Given the description of an element on the screen output the (x, y) to click on. 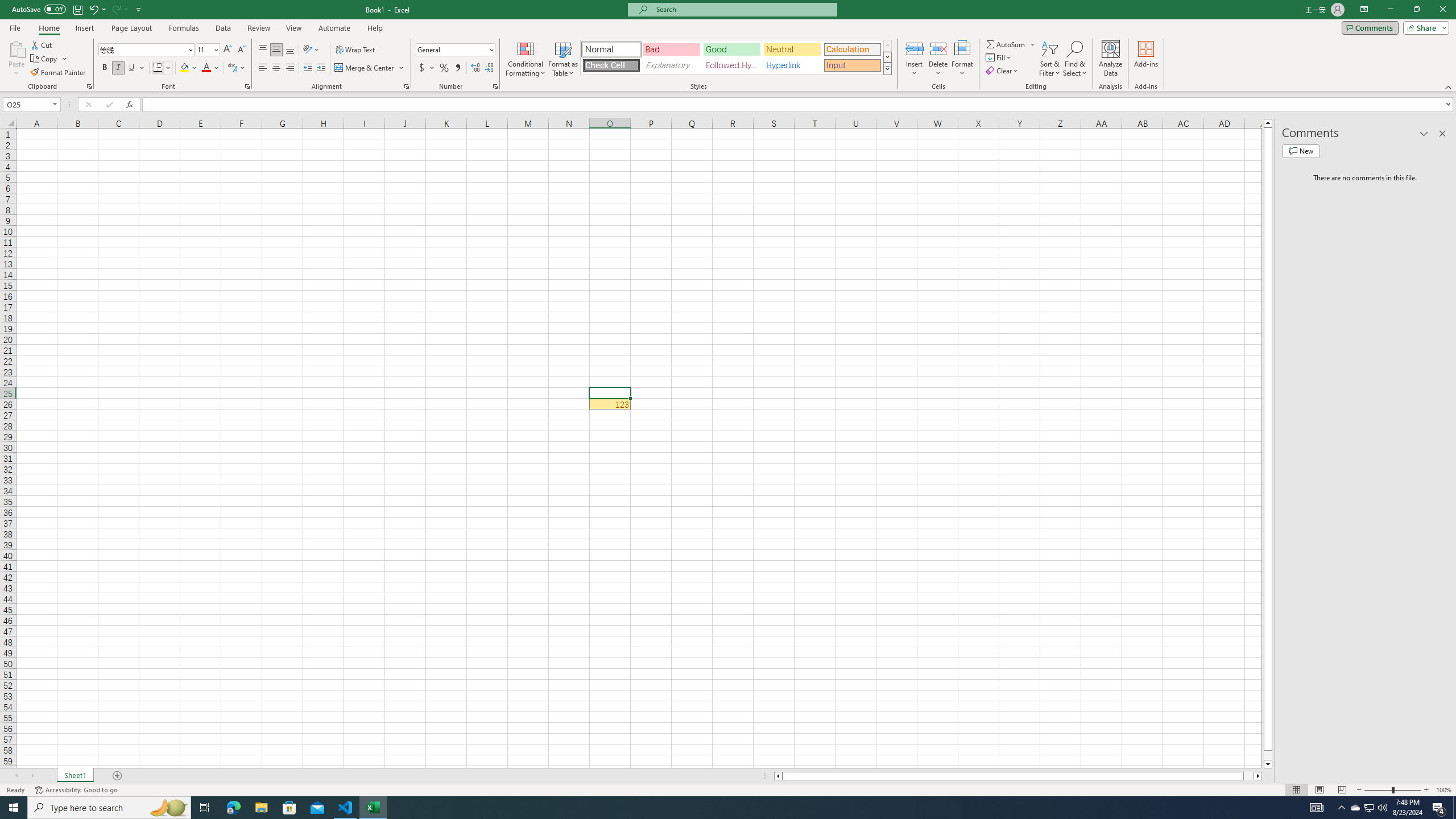
Merge & Center (365, 67)
Font Size (207, 49)
Increase Font Size (227, 49)
Paste (16, 48)
Comma Style (457, 67)
Followed Hyperlink (731, 65)
Office Clipboard... (88, 85)
